Given the description of an element on the screen output the (x, y) to click on. 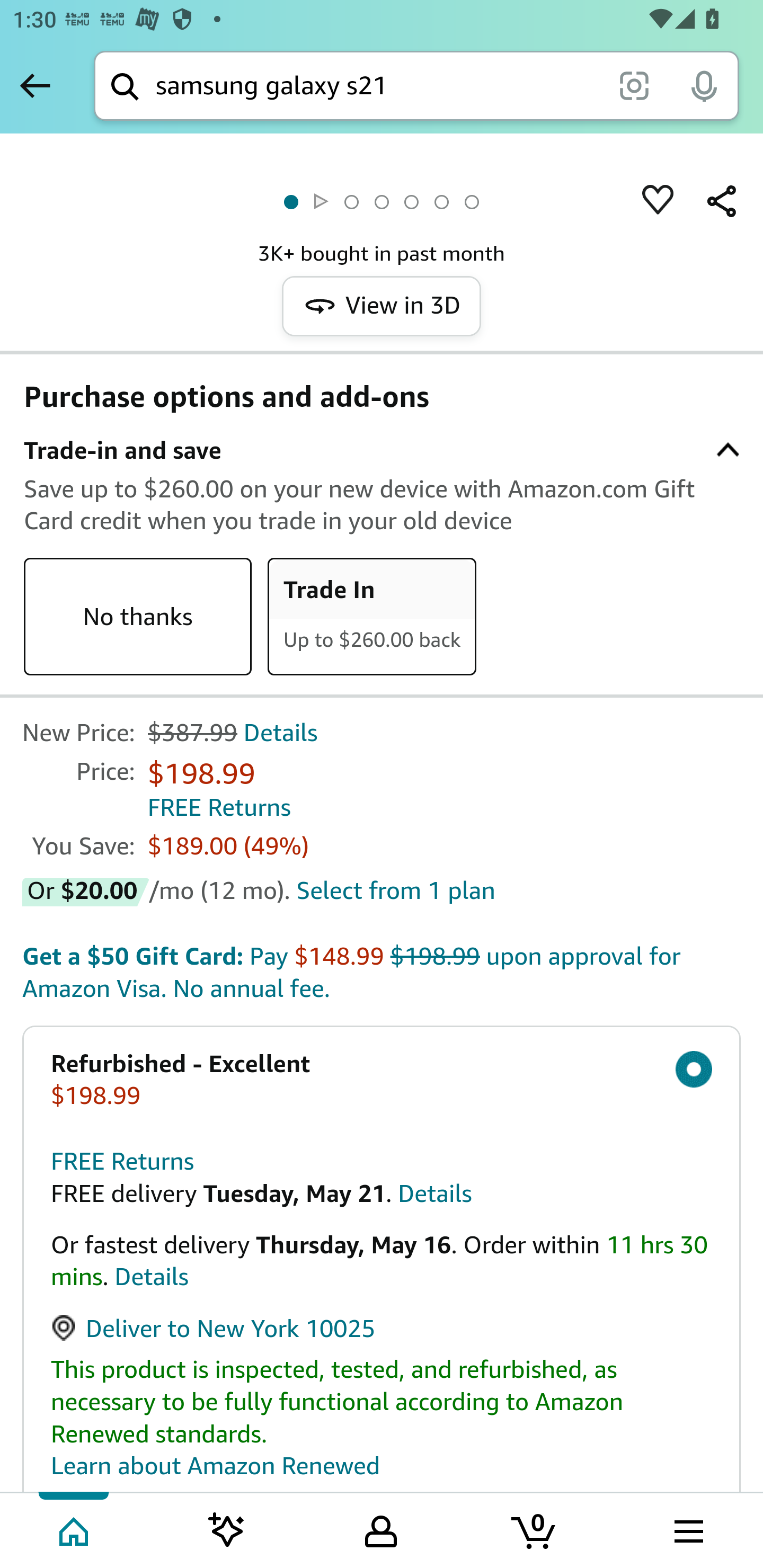
Back (35, 85)
scan it (633, 85)
Heart to save an item to your default list (657, 201)
View in 3D view360._CB586229963_ View in 3D (381, 305)
No thanks (137, 617)
Details (280, 732)
FREE Returns (218, 807)
Select from 1 plan (395, 890)
Refurbished - Excellent $198.99 (381, 1080)
FREE Returns (123, 1160)
Details (434, 1192)
Details (151, 1277)
Deliver to New York 10025‌ (213, 1327)
Learn about Amazon Renewed (216, 1465)
Home Tab 1 of 5 (75, 1529)
Inspire feed Tab 2 of 5 (227, 1529)
Your Amazon.com Tab 3 of 5 (380, 1529)
Cart 0 item Tab 4 of 5 0 (534, 1529)
Browse menu Tab 5 of 5 (687, 1529)
